Given the description of an element on the screen output the (x, y) to click on. 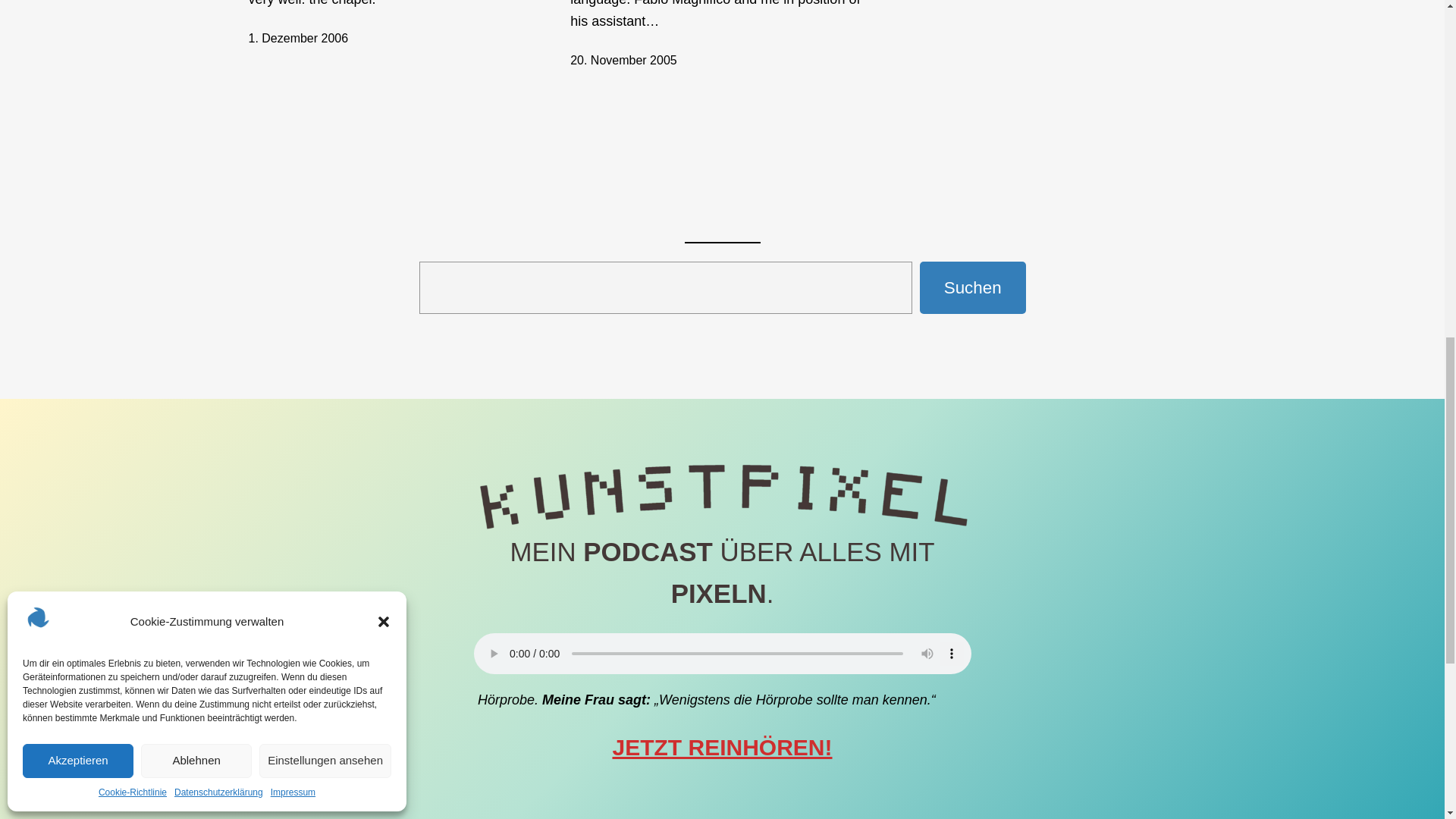
1. Dezember 2006 (298, 38)
20. November 2005 (623, 60)
